Given the description of an element on the screen output the (x, y) to click on. 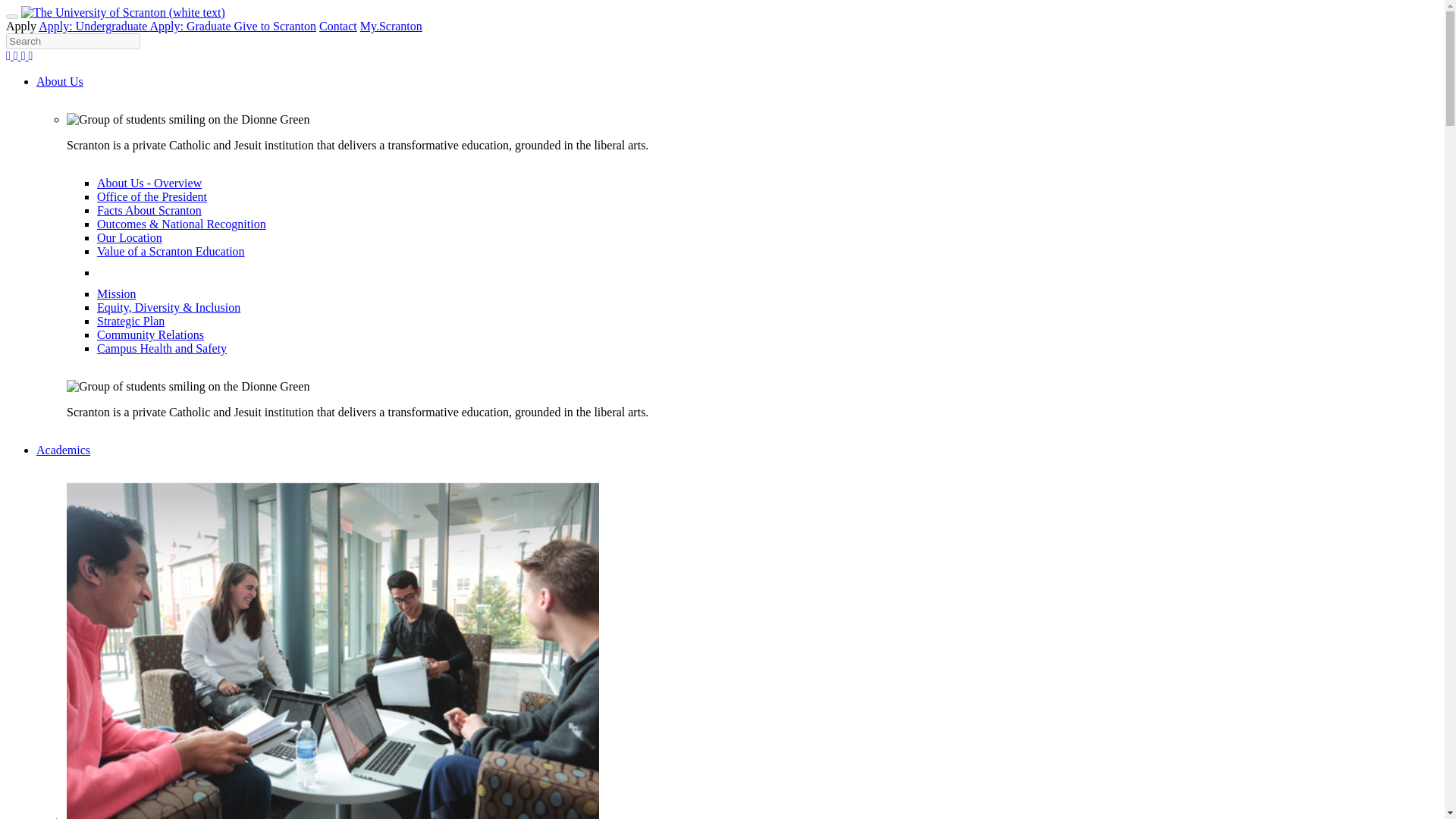
Strategic Plan (130, 320)
Mission (116, 293)
Give to Scranton (274, 25)
Apply: Undergraduate (94, 25)
Value of a Scranton Education (170, 250)
Facts About Scranton (149, 210)
Contact (337, 25)
Apply: Graduate (190, 25)
Community Relations (150, 334)
Campus Health and Safety (162, 348)
Our Location (129, 237)
About Us - Overview (149, 182)
Office of the President (151, 196)
My.Scranton (390, 25)
